Given the description of an element on the screen output the (x, y) to click on. 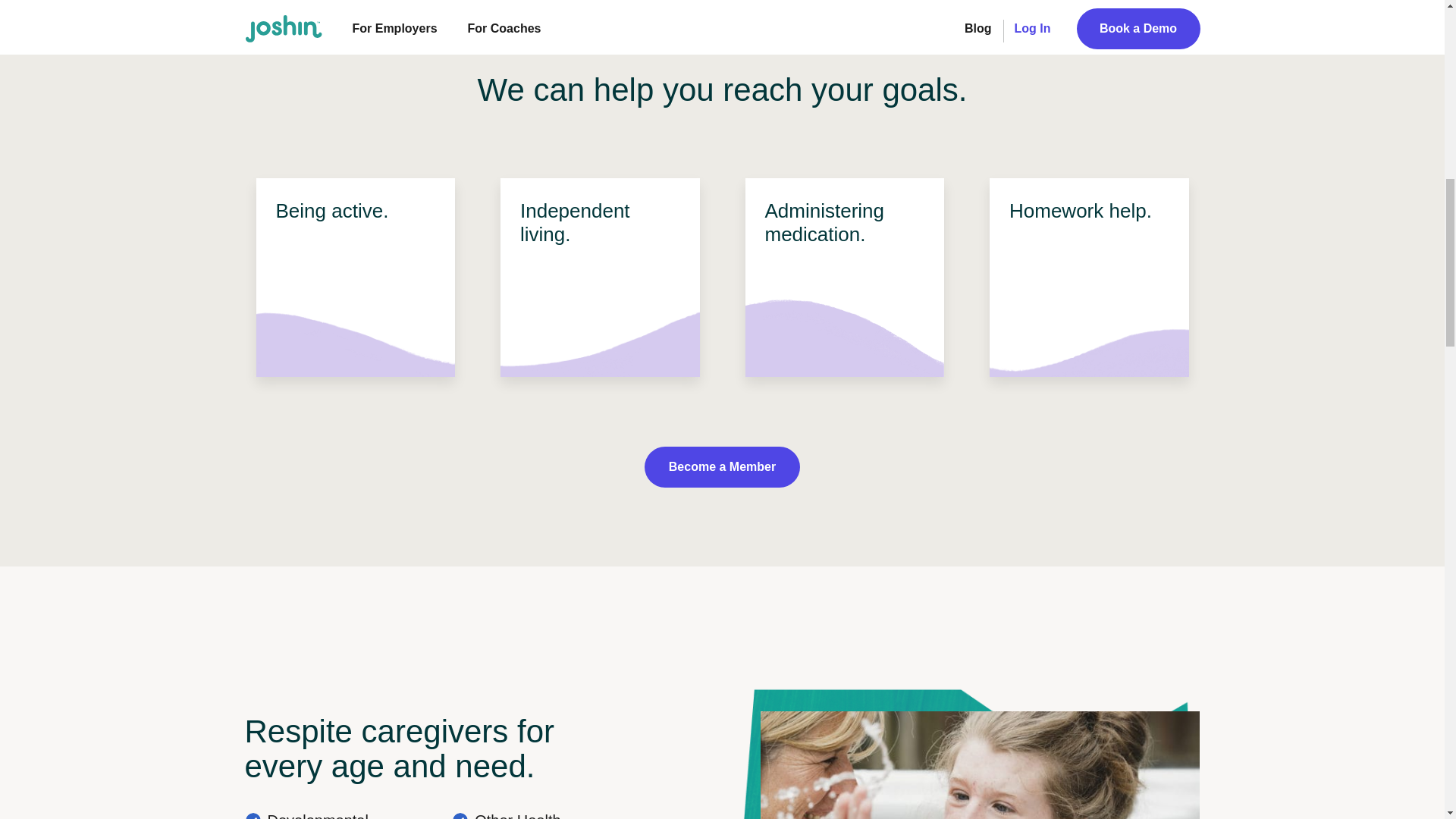
Become a Member (722, 466)
